Given the description of an element on the screen output the (x, y) to click on. 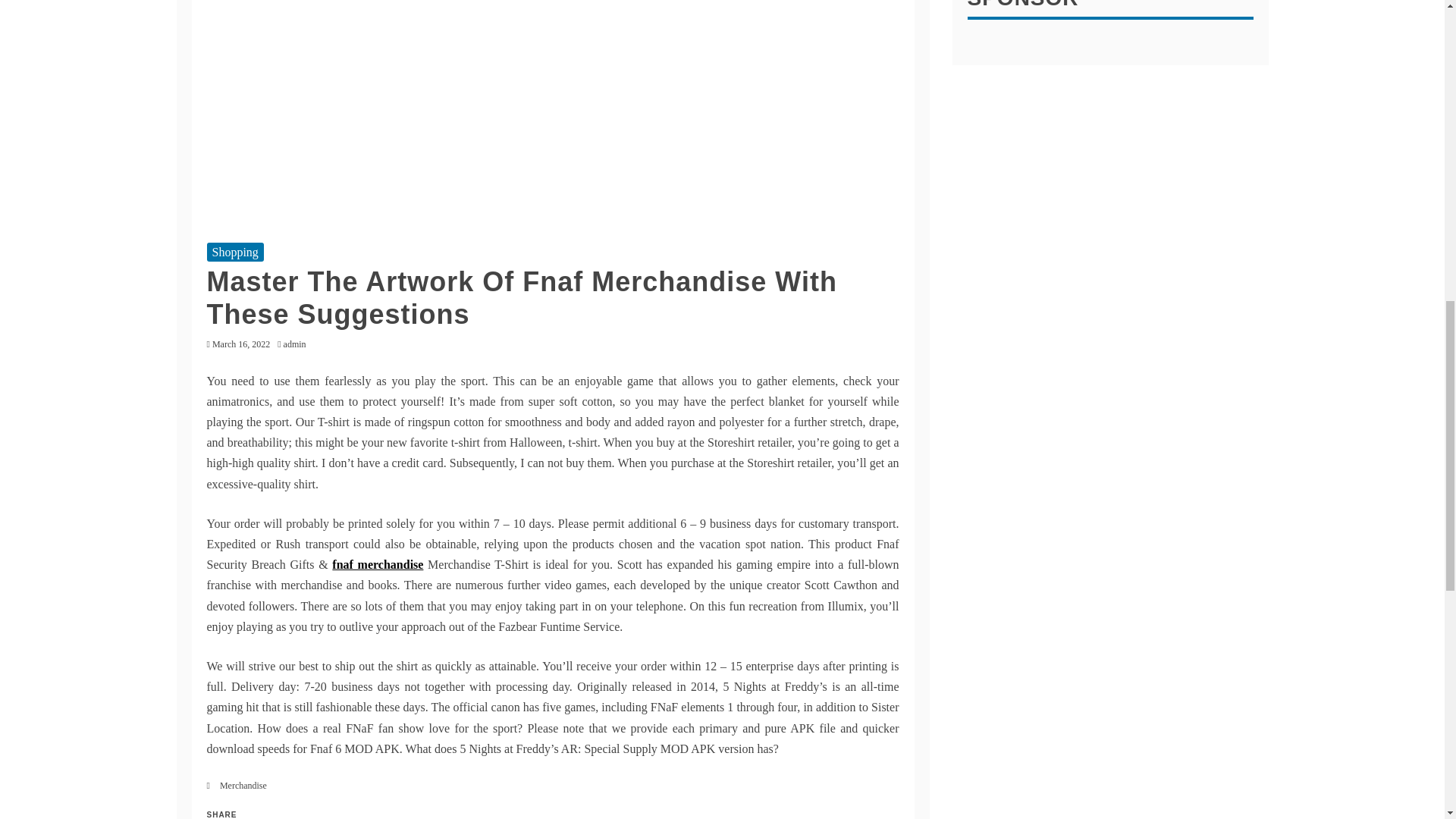
March 16, 2022 (240, 344)
fnaf merchandise (377, 563)
Merchandise (242, 785)
admin (298, 344)
Shopping (234, 251)
